Given the description of an element on the screen output the (x, y) to click on. 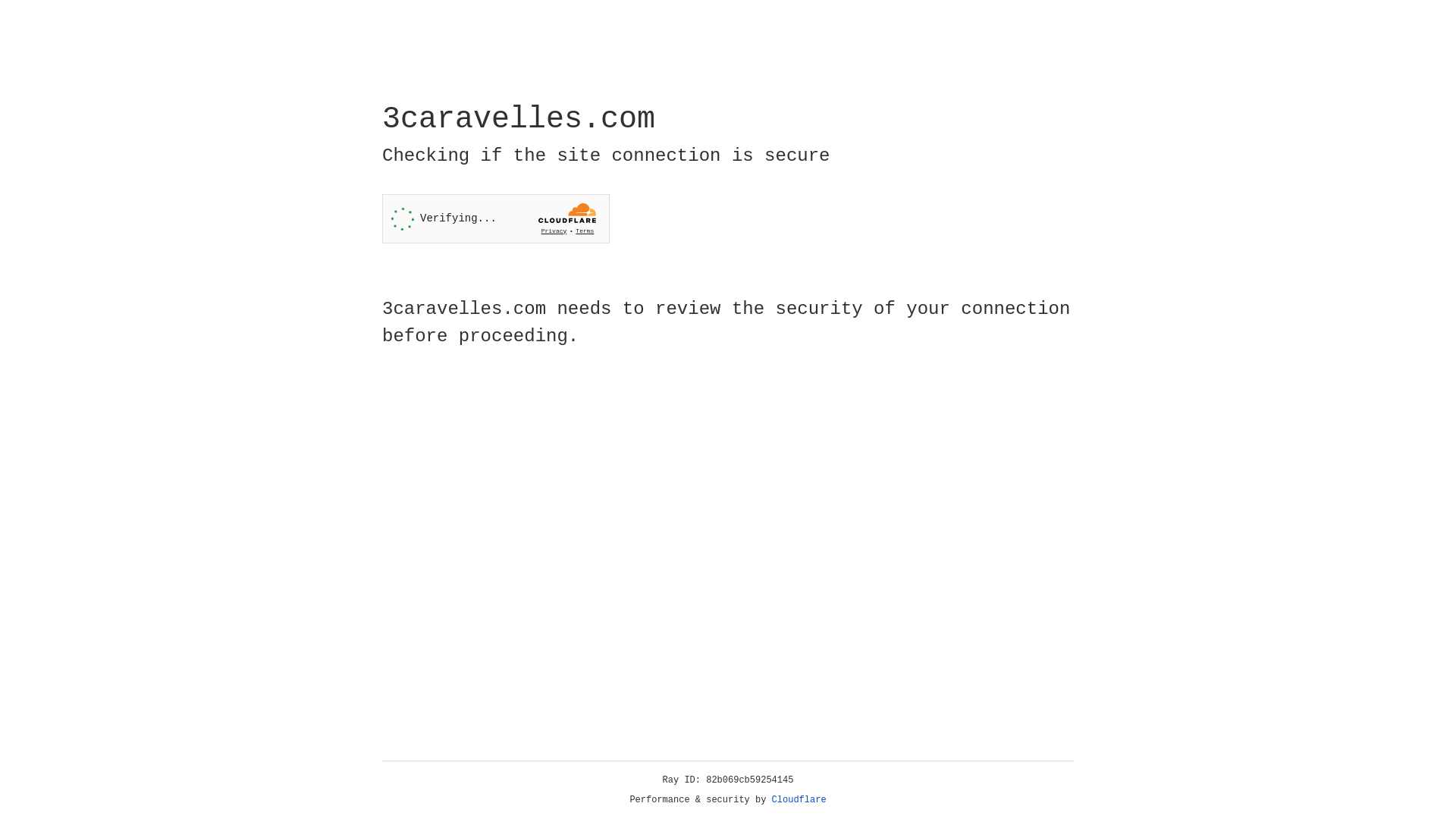
Widget containing a Cloudflare security challenge Element type: hover (495, 218)
Cloudflare Element type: text (798, 799)
